Given the description of an element on the screen output the (x, y) to click on. 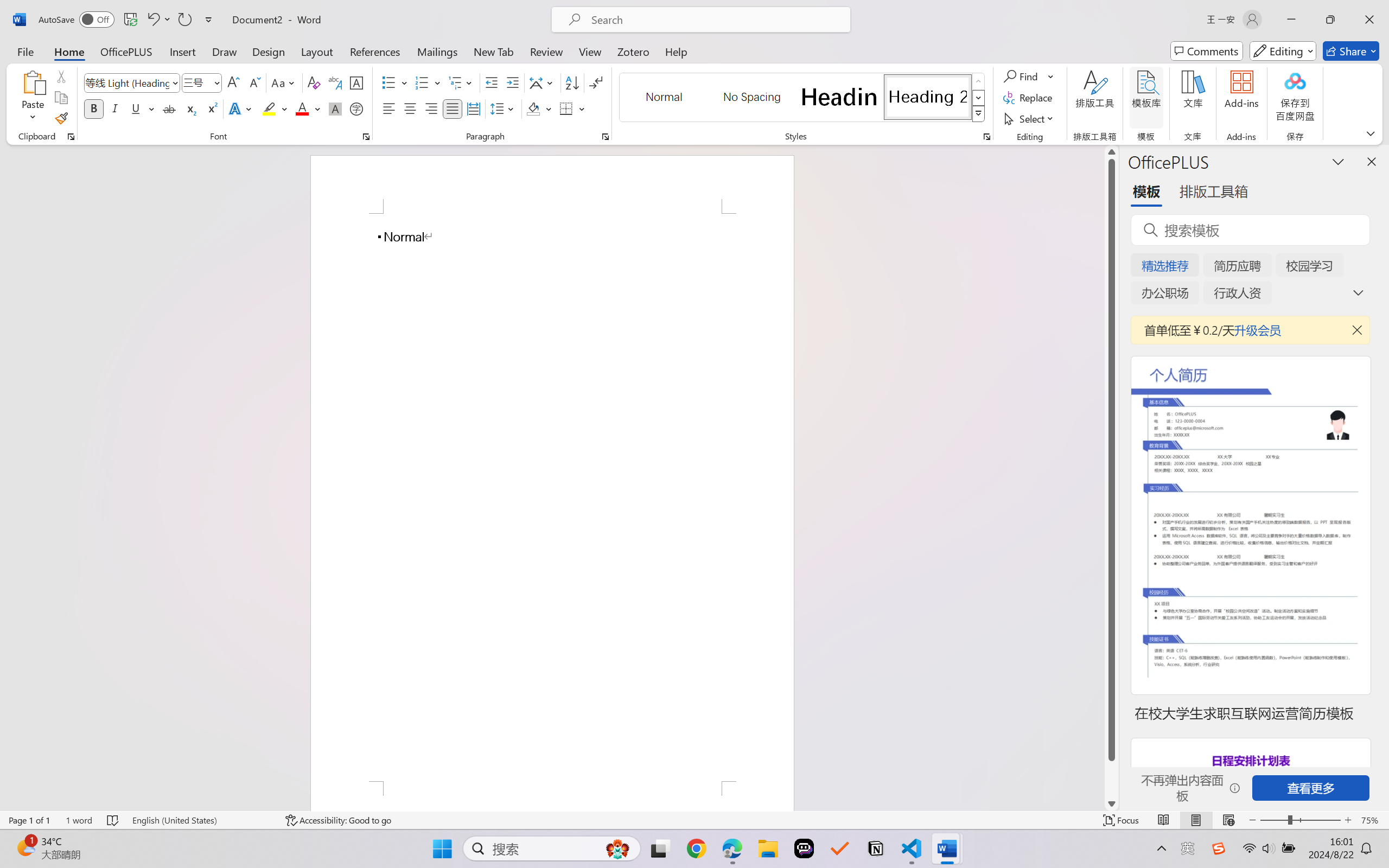
Office Clipboard... (70, 136)
Restore Down (1330, 19)
Clear Formatting (313, 82)
Comments (1206, 50)
Asian Layout (542, 82)
Font (132, 82)
Find (1029, 75)
Numbering (428, 82)
Line and Paragraph Spacing (503, 108)
